Given the description of an element on the screen output the (x, y) to click on. 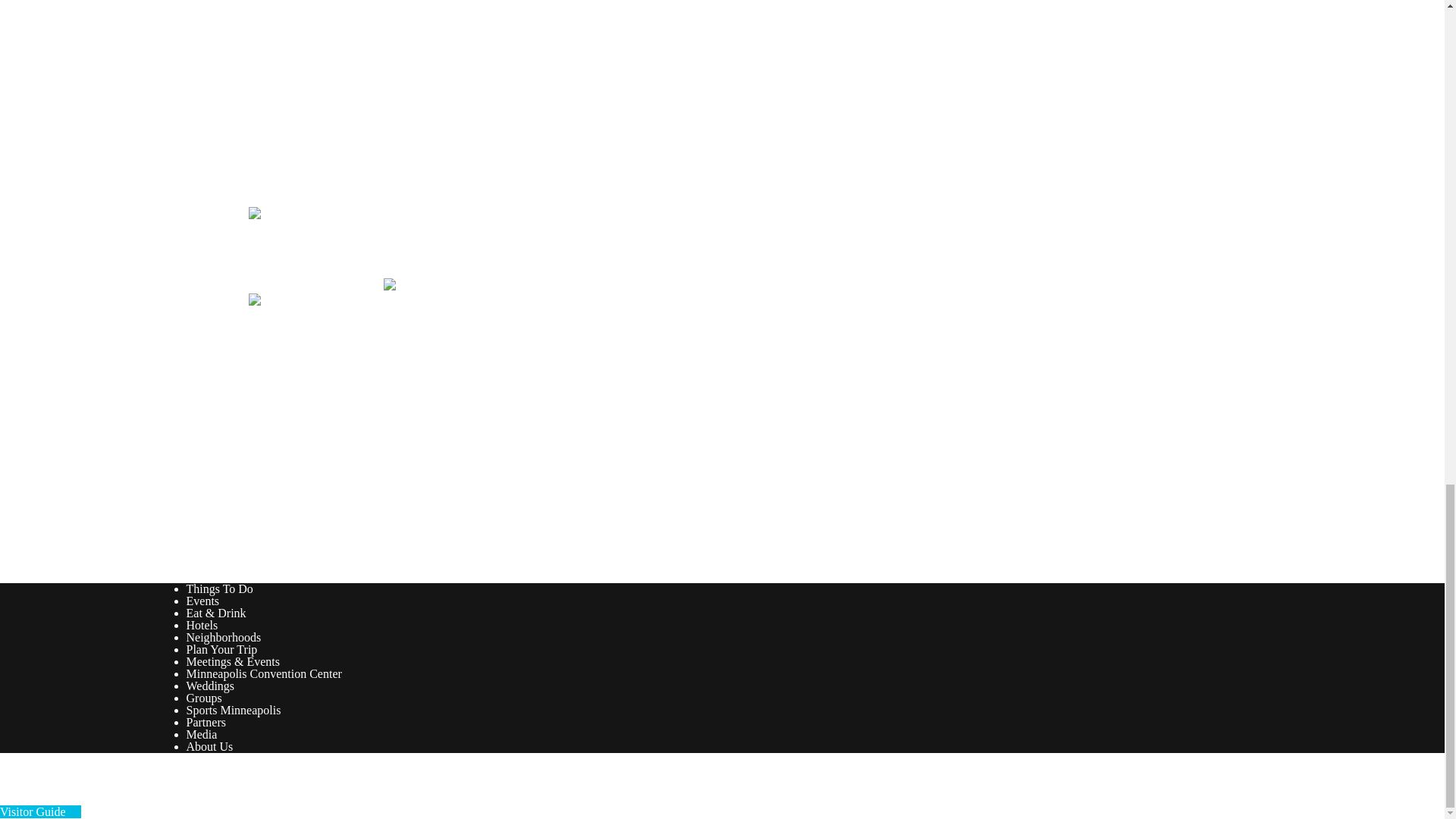
Things To Do (219, 588)
MEET MINNEAPOLIS VISITOR CENTER ON NICOLLET (449, 455)
MINNEAPOLIS CONVENTION CENTER (391, 529)
Land and Water Acknowledgment (330, 333)
MEET MINNEAPOLIS (326, 381)
